Given the description of an element on the screen output the (x, y) to click on. 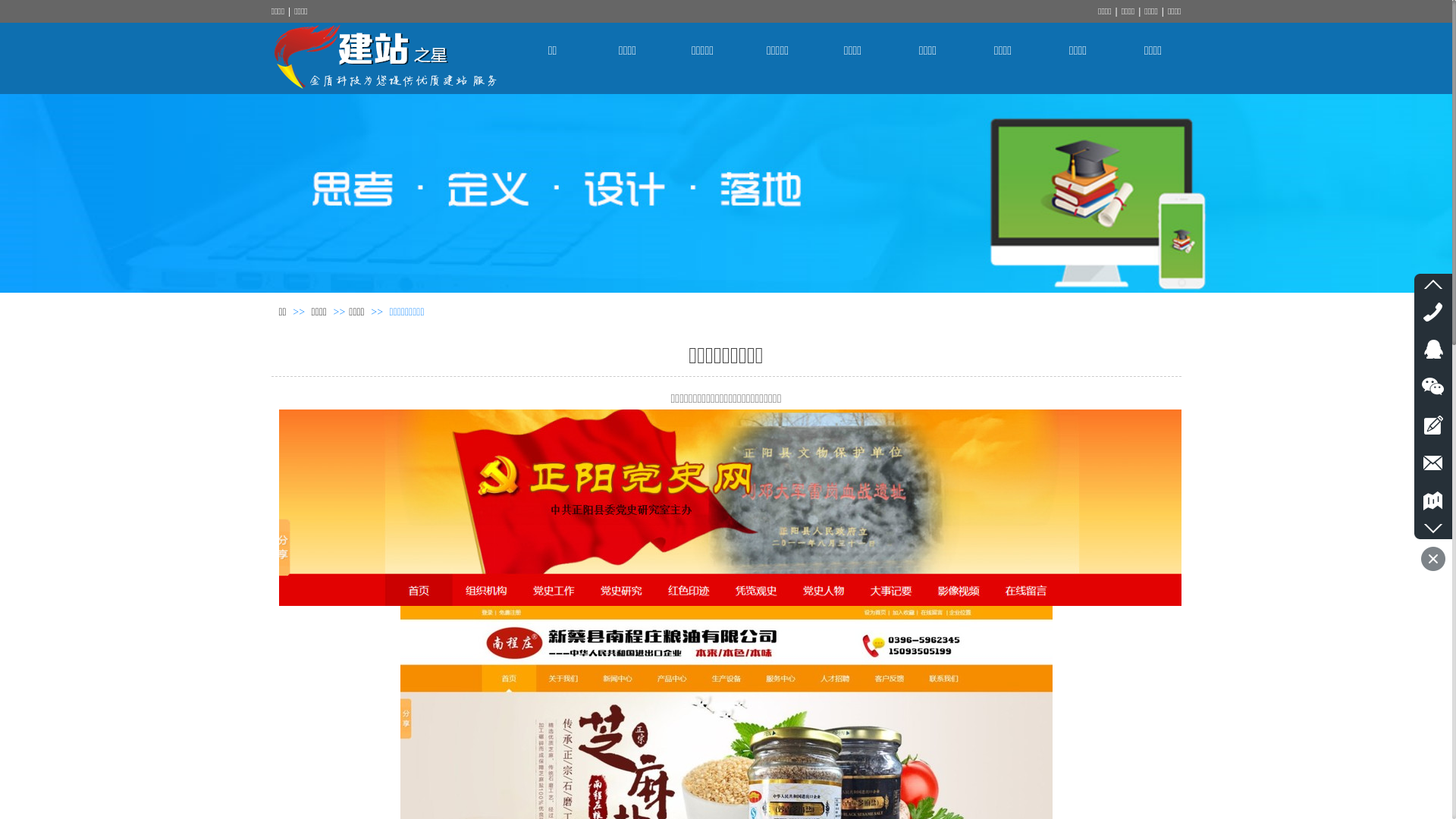
1538905751570858.jpg Element type: hover (734, 507)
